Given the description of an element on the screen output the (x, y) to click on. 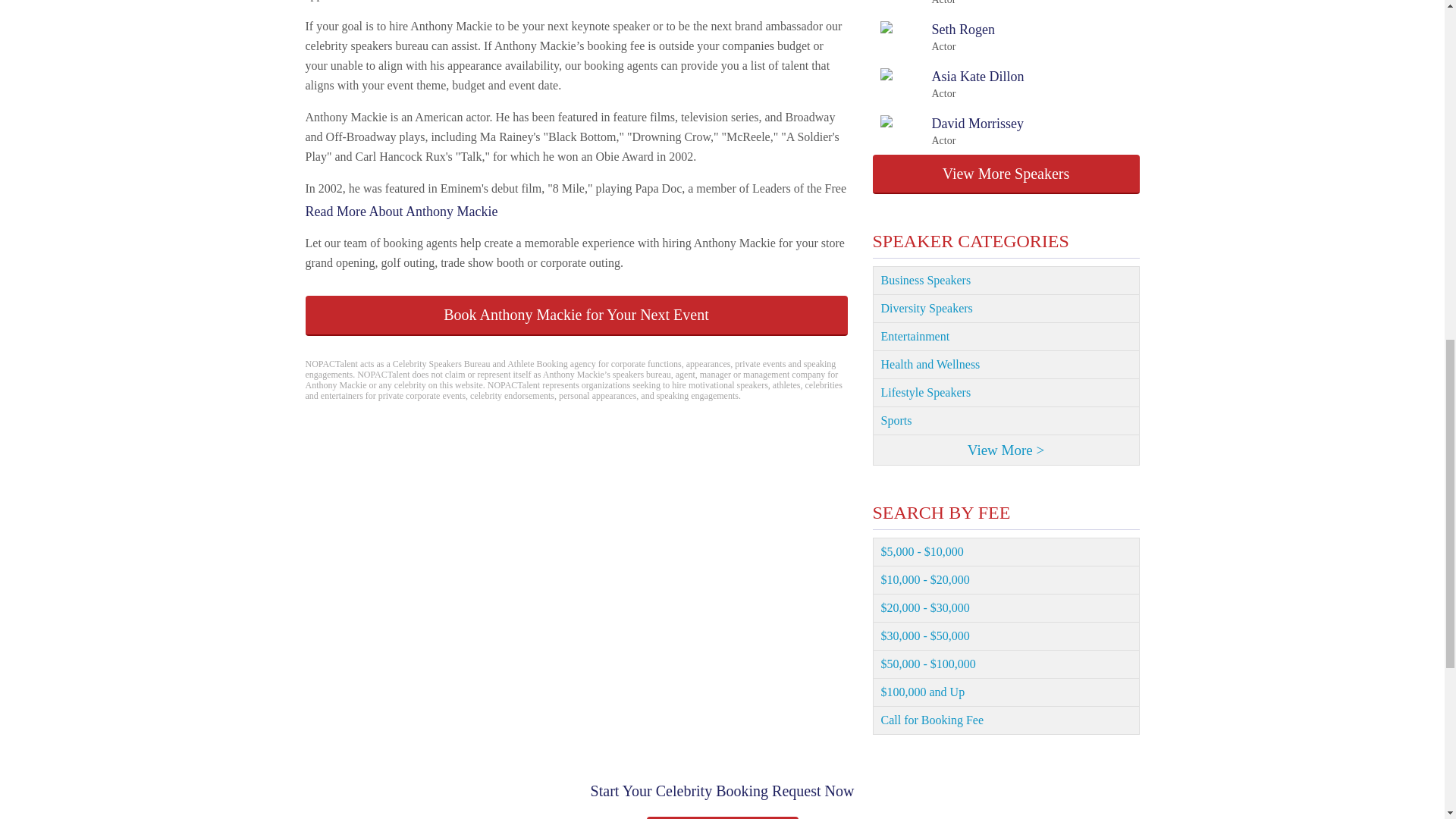
View More Speakers (1005, 174)
Business Speakers (944, 2)
Book Anthony Mackie for Your Next Event (951, 131)
Sports (936, 37)
Health and Wellness (951, 83)
Entertainment (1005, 280)
